Given the description of an element on the screen output the (x, y) to click on. 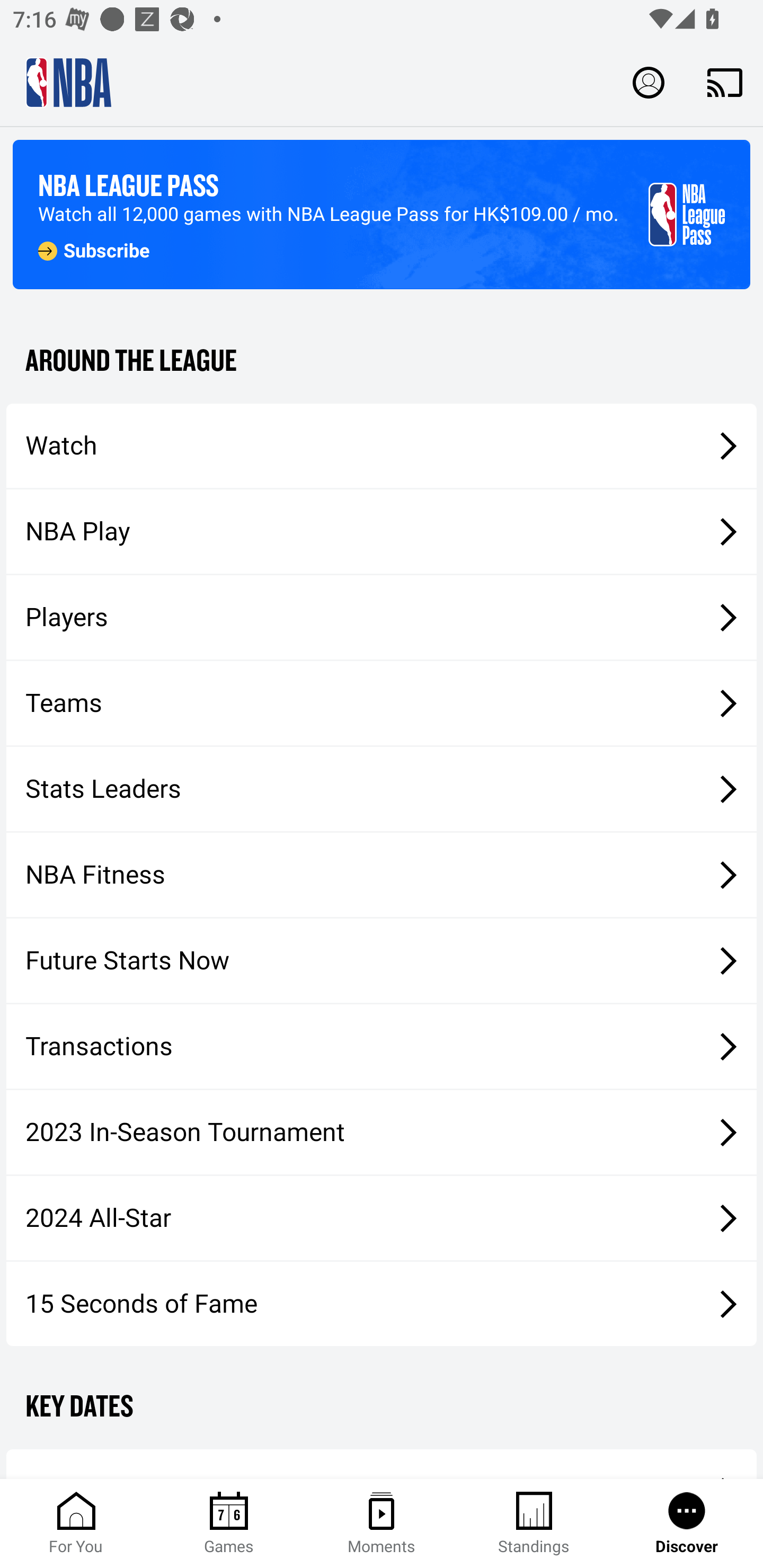
Cast. Disconnected (724, 82)
Profile (648, 81)
Watch (381, 444)
NBA Play (381, 531)
Players (381, 617)
Teams (381, 702)
Stats Leaders (381, 788)
NBA Fitness (381, 874)
Future Starts Now (381, 960)
Transactions (381, 1046)
2023 In-Season Tournament (381, 1131)
2024 All-Star (381, 1218)
15 Seconds of Fame (381, 1303)
For You (76, 1523)
Games (228, 1523)
Moments (381, 1523)
Standings (533, 1523)
